Given the description of an element on the screen output the (x, y) to click on. 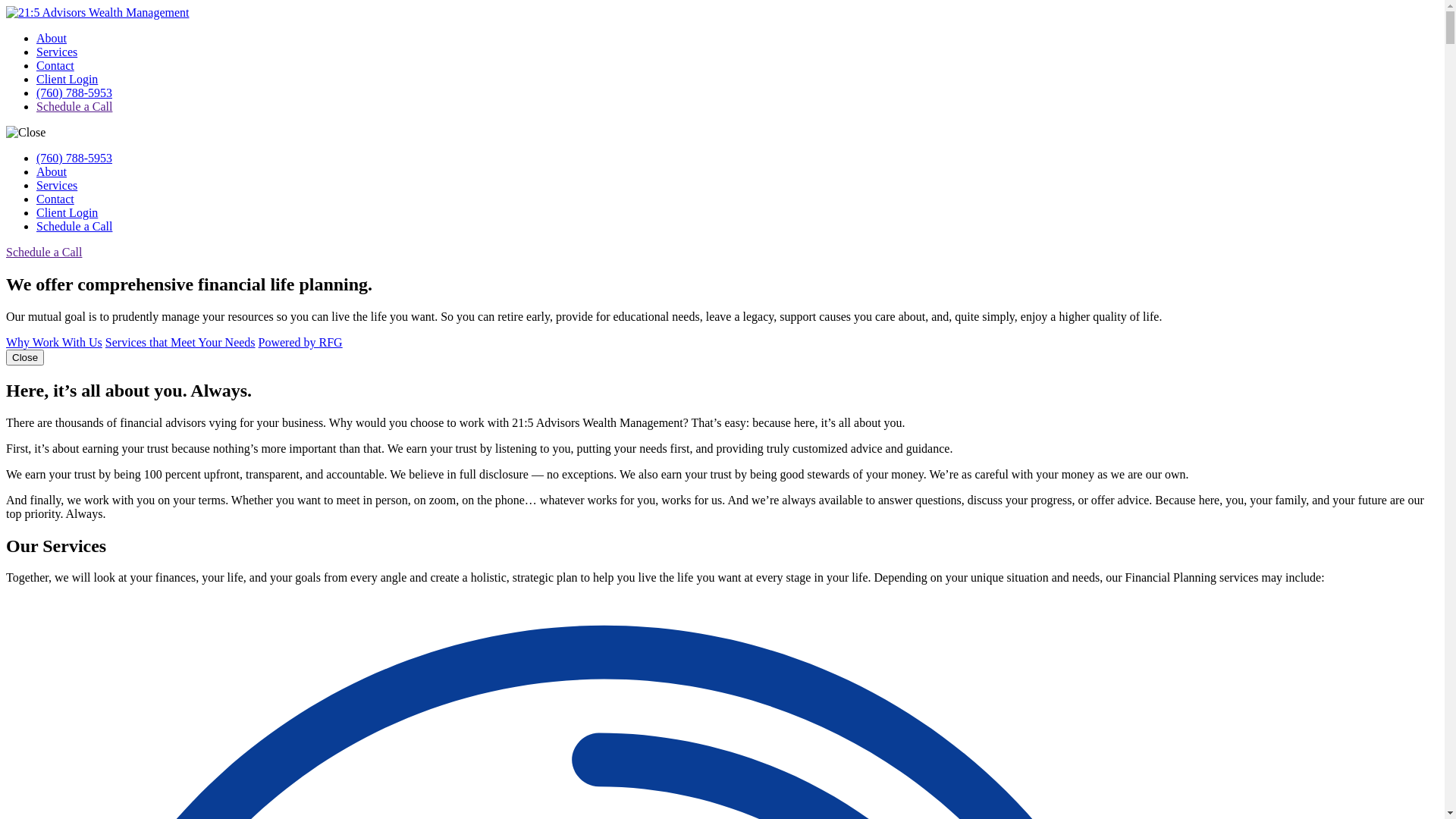
Powered by RFG Element type: text (300, 341)
Schedule a Call Element type: text (43, 251)
Why Work With Us Element type: text (54, 341)
(760) 788-5953 Element type: text (74, 157)
Client Login Element type: text (66, 212)
Schedule a Call Element type: text (74, 225)
Contact Element type: text (55, 65)
About Element type: text (51, 171)
(760) 788-5953 Element type: text (74, 92)
About Element type: text (51, 37)
Services Element type: text (56, 184)
Services Element type: text (56, 51)
Schedule a Call Element type: text (74, 106)
Contact Element type: text (55, 198)
Services that Meet Your Needs Element type: text (180, 341)
Close Element type: text (24, 357)
Client Login Element type: text (66, 78)
